Given the description of an element on the screen output the (x, y) to click on. 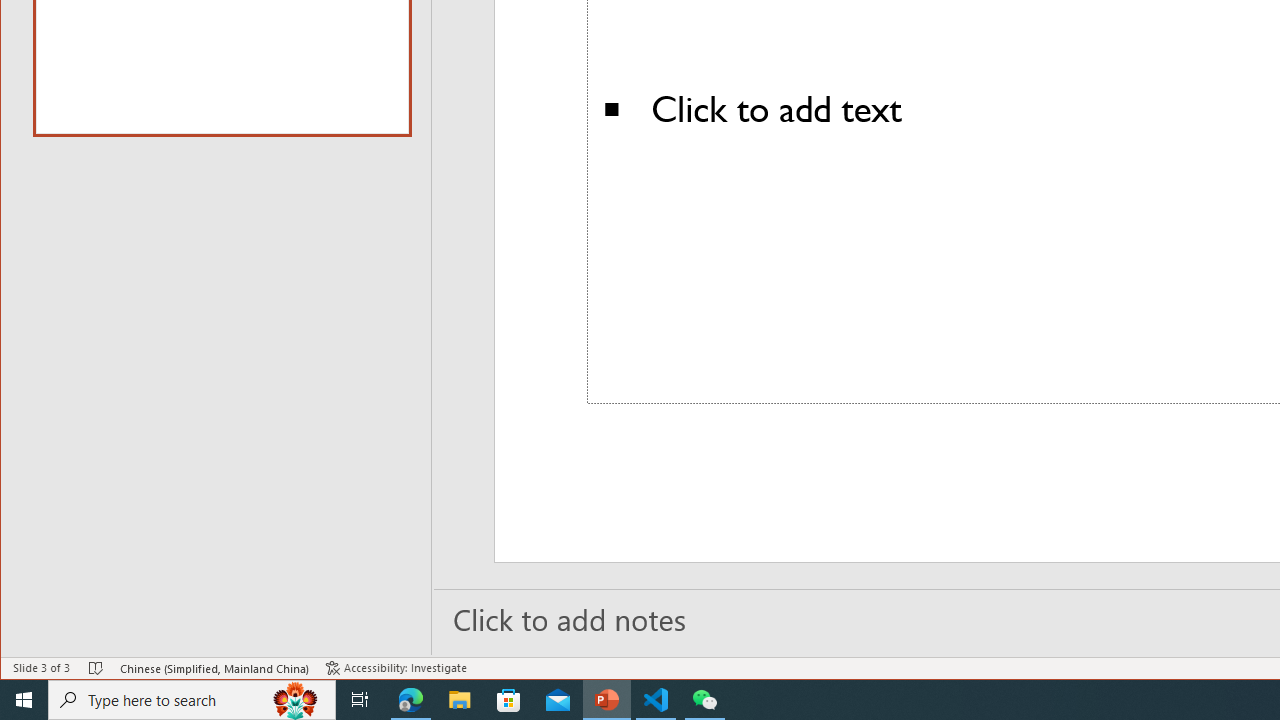
WeChat - 1 running window (704, 699)
